Given the description of an element on the screen output the (x, y) to click on. 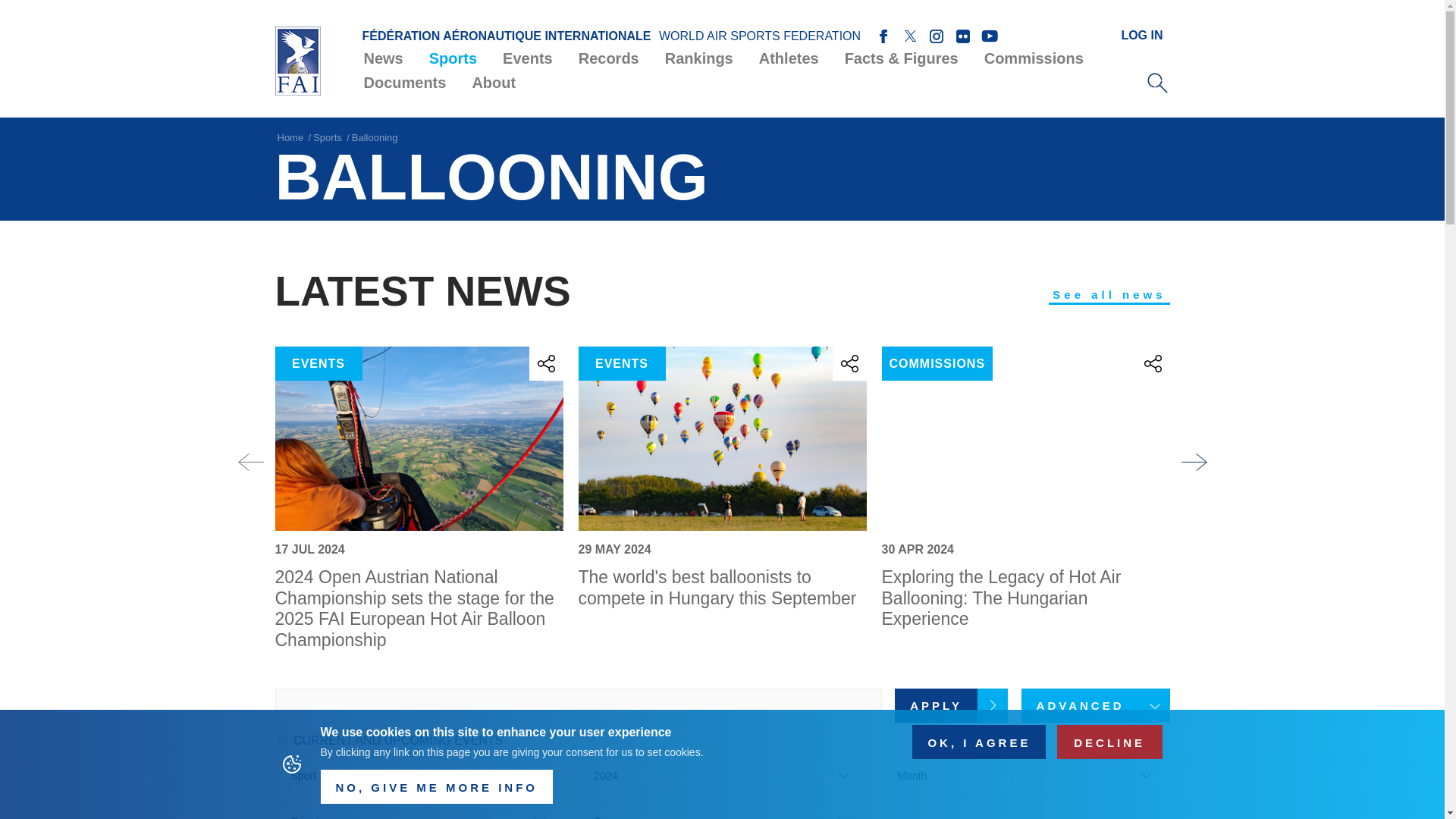
Records (609, 57)
Youtube (989, 35)
1 (282, 739)
Flickr (962, 35)
Apply (951, 705)
Events (527, 57)
LOG IN (1141, 35)
X (909, 35)
Instagram (936, 35)
News (382, 57)
Rankings (698, 57)
Facebook (883, 35)
Athletes (789, 57)
